Given the description of an element on the screen output the (x, y) to click on. 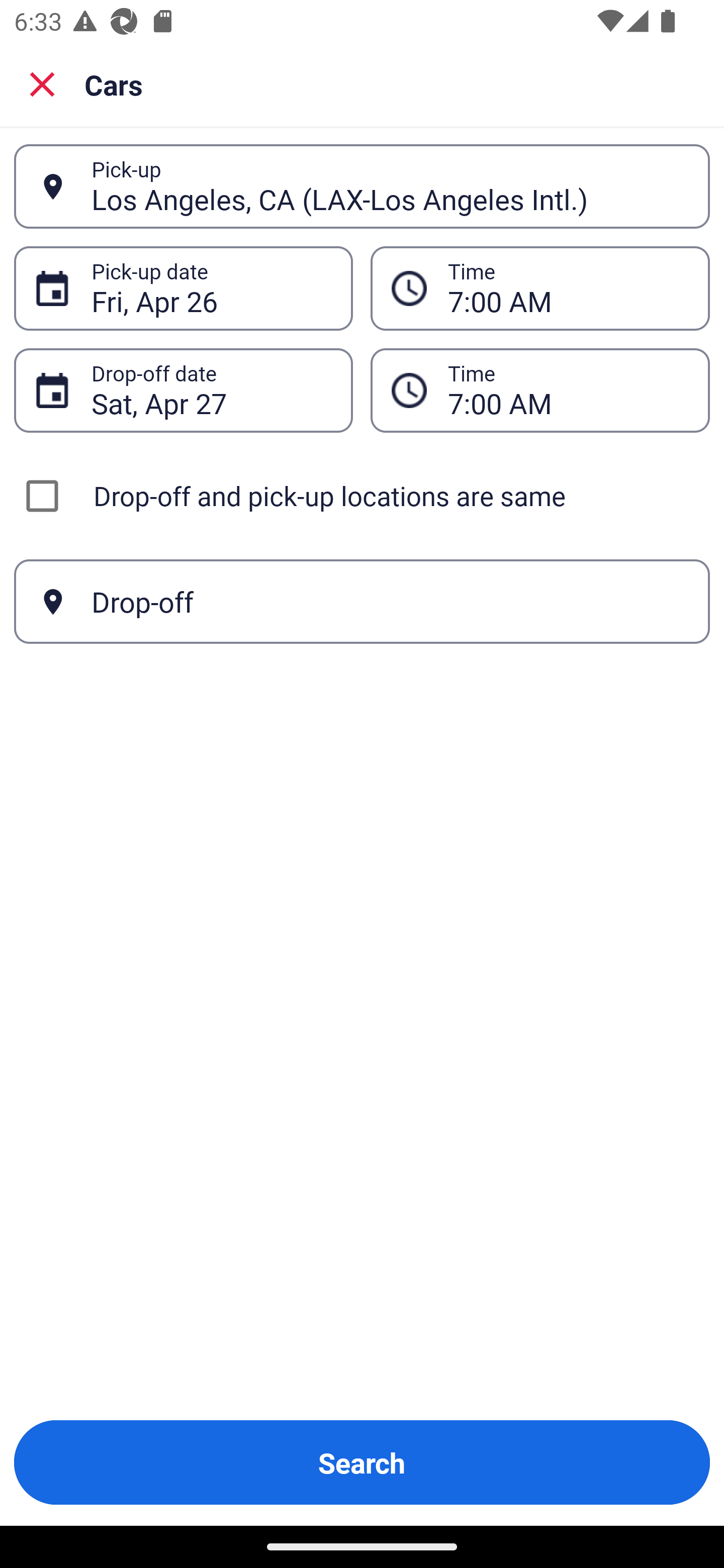
Close search screen (41, 83)
Los Angeles, CA (LAX-Los Angeles Intl.) Pick-up (361, 186)
Los Angeles, CA (LAX-Los Angeles Intl.) (389, 186)
Fri, Apr 26 Pick-up date (183, 288)
7:00 AM (540, 288)
Fri, Apr 26 (211, 288)
7:00 AM (568, 288)
Sat, Apr 27 Drop-off date (183, 390)
7:00 AM (540, 390)
Sat, Apr 27 (211, 390)
7:00 AM (568, 390)
Drop-off and pick-up locations are same (361, 495)
Drop-off (361, 601)
Search Button Search (361, 1462)
